Given the description of an element on the screen output the (x, y) to click on. 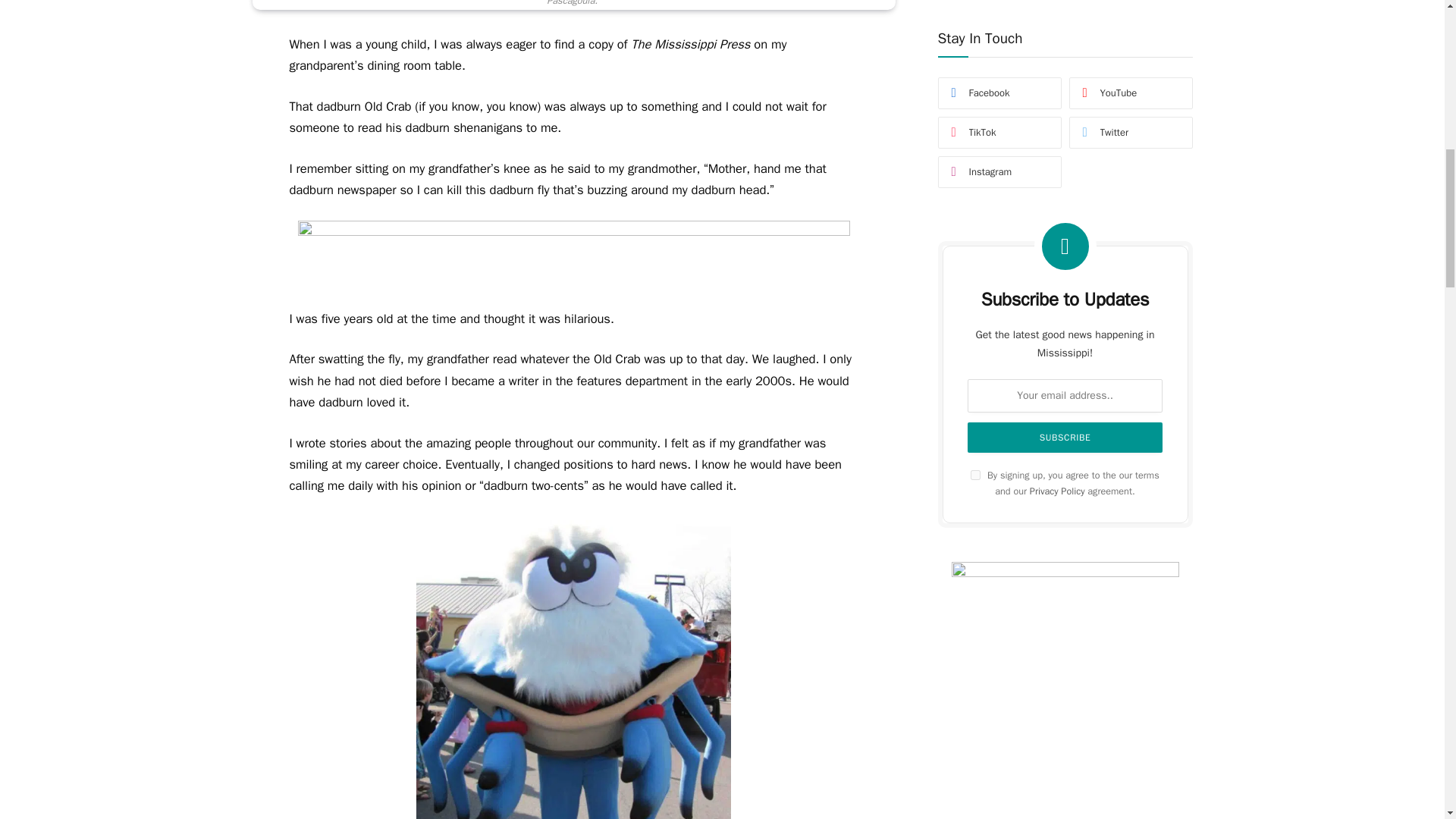
Subscribe (1064, 3)
on (975, 30)
